Given the description of an element on the screen output the (x, y) to click on. 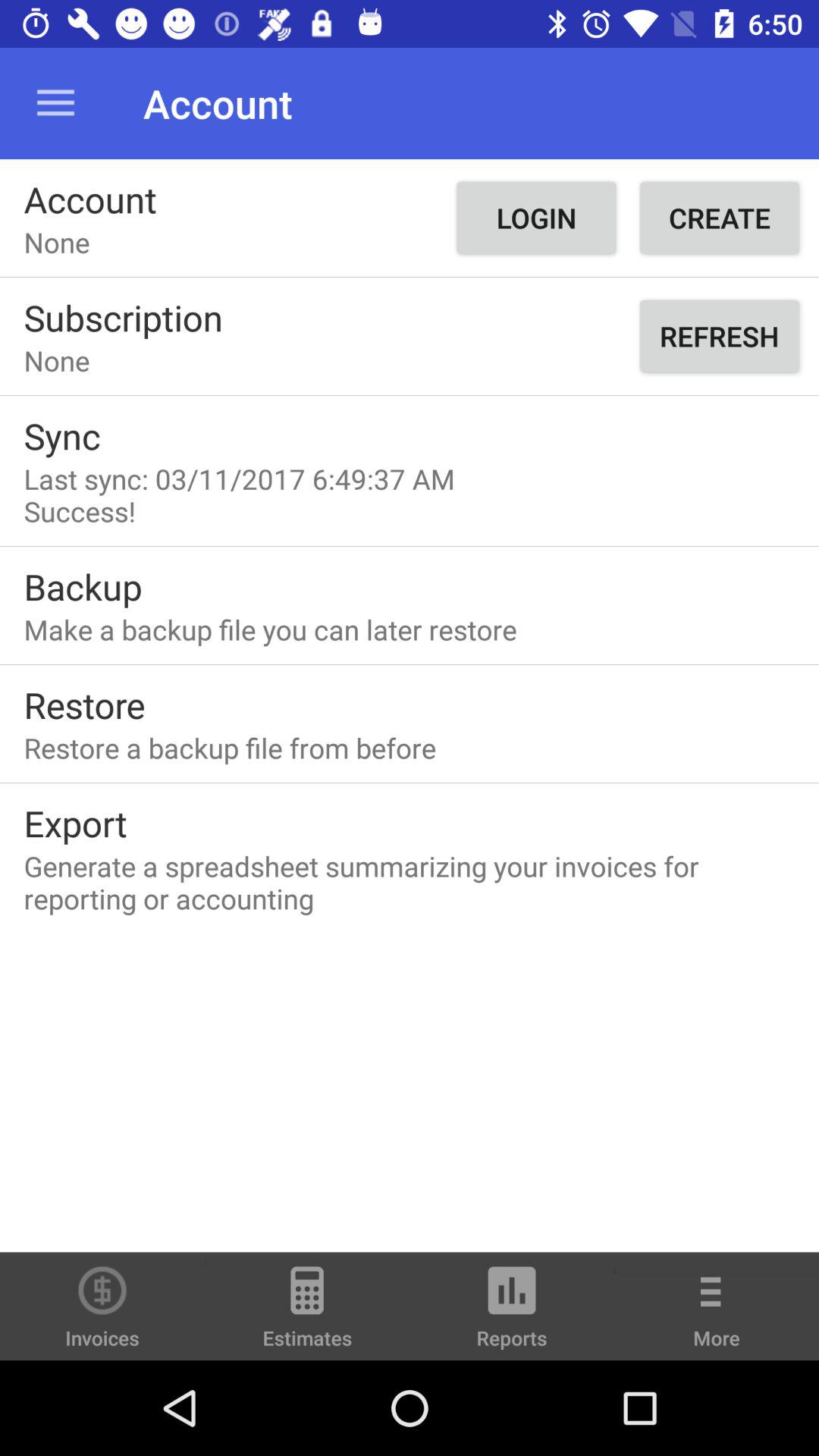
swipe to reports item (511, 1313)
